Given the description of an element on the screen output the (x, y) to click on. 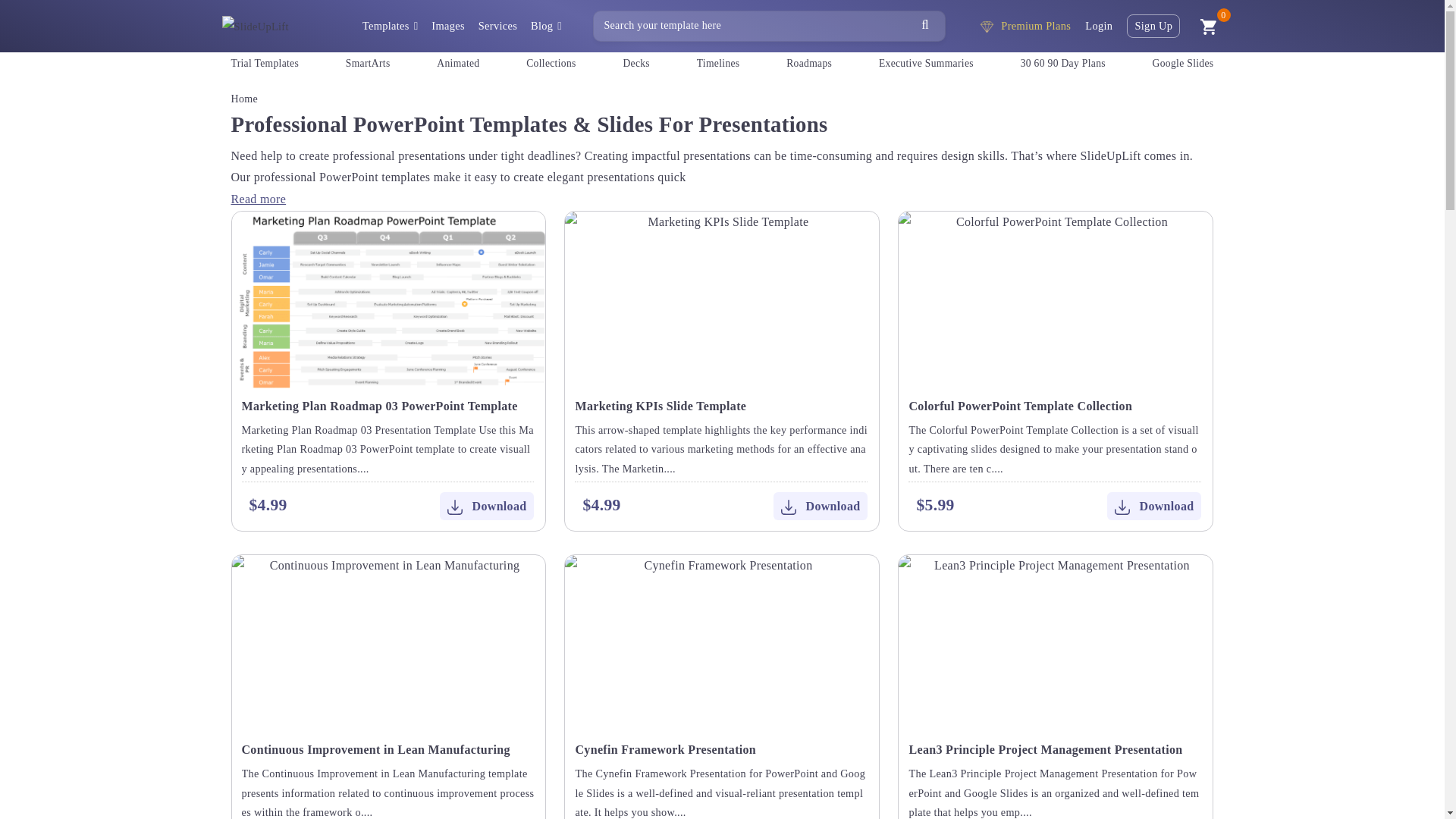
Marketing-Plan-Roadmap-03-PowerPoint-Template-220918 (388, 299)
Marketing-KPI-PowerPoint-Template-615616 (721, 299)
Templates (389, 25)
